Given the description of an element on the screen output the (x, y) to click on. 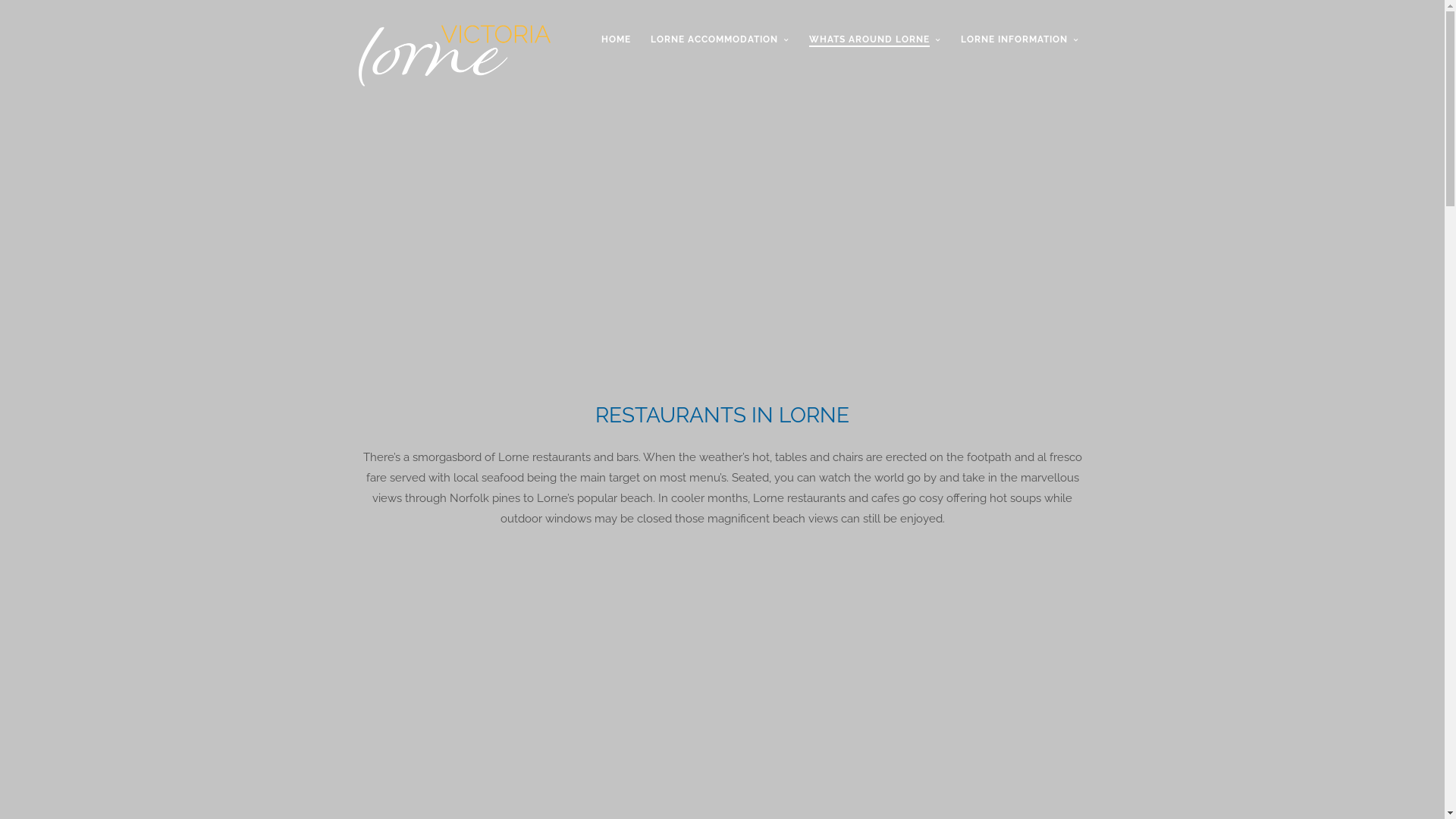
LORNE ACCOMMODATION Element type: text (720, 51)
LORNE Element type: text (813, 414)
WHATS AROUND LORNE Element type: text (873, 51)
LORNE INFORMATION Element type: text (1018, 51)
HOME Element type: text (615, 51)
